Given the description of an element on the screen output the (x, y) to click on. 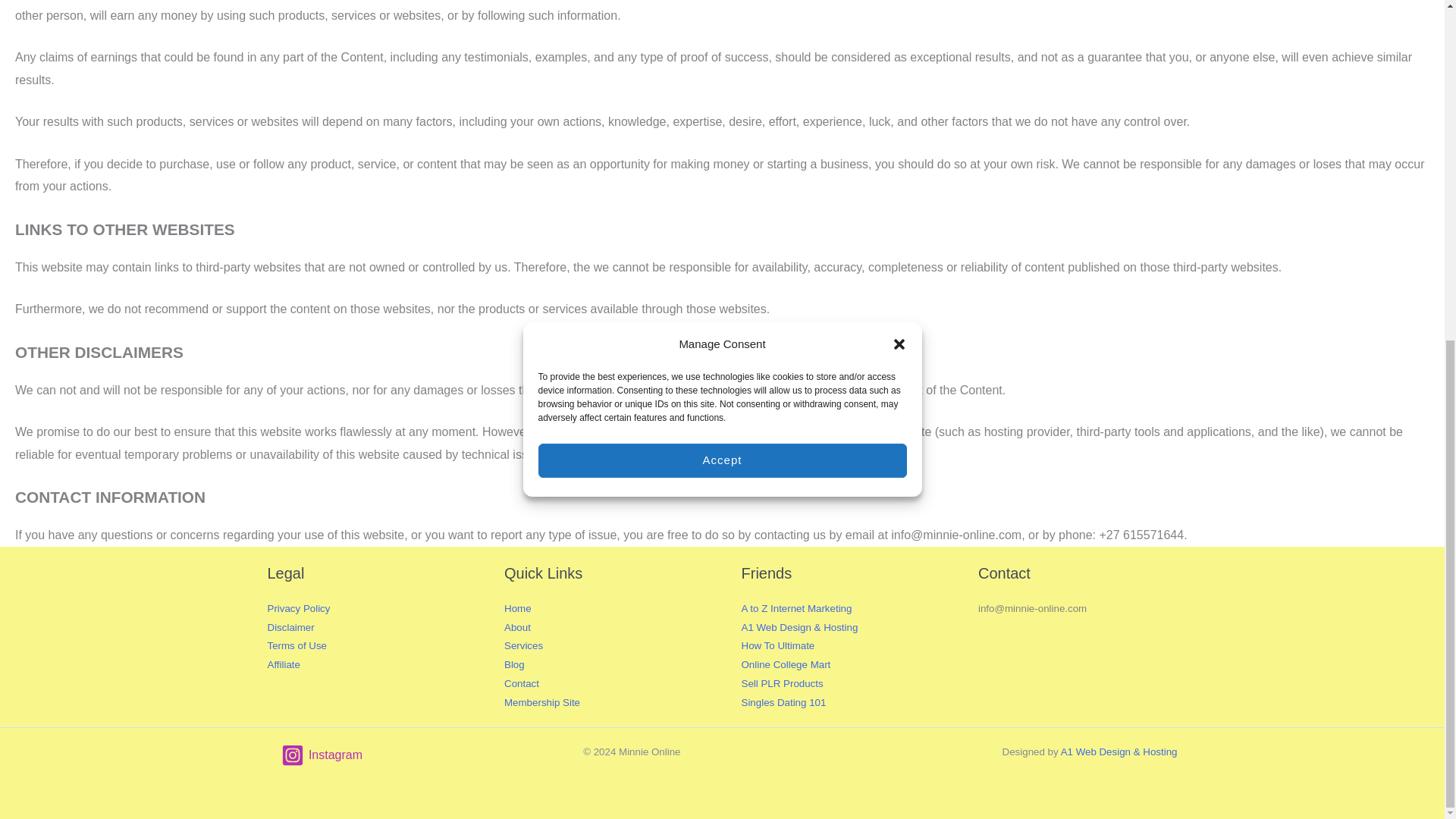
Disclaimer (290, 627)
Privacy Policy (298, 608)
Membership Site (541, 702)
Home (517, 608)
Contact (520, 683)
A to Z Internet Marketing (796, 608)
Affiliate (282, 664)
Services (523, 645)
Blog (513, 664)
Terms of Use (296, 645)
About (517, 627)
Affordable Web Design, Domain Registration and Hosting (800, 627)
